Given the description of an element on the screen output the (x, y) to click on. 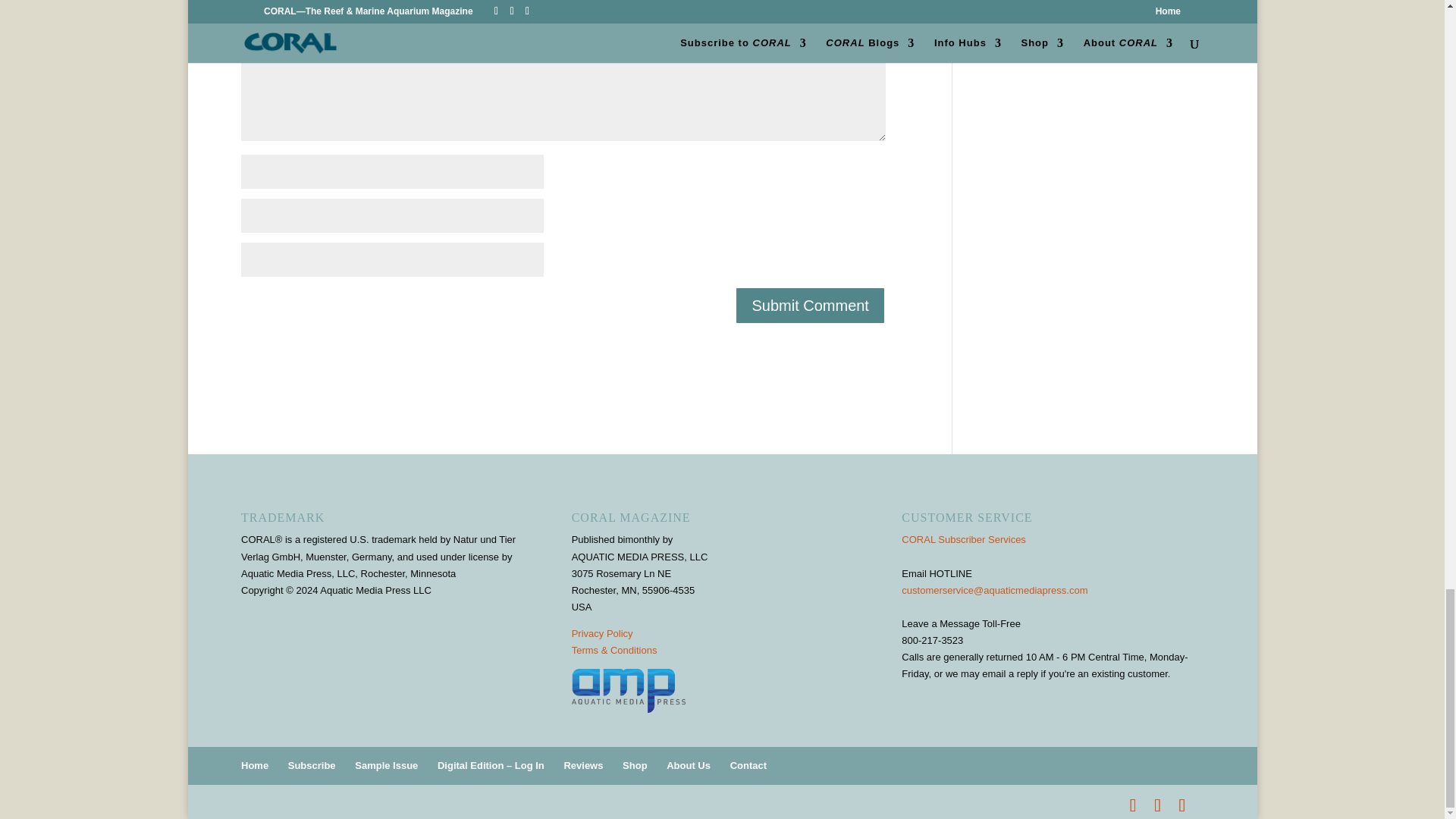
Submit Comment (810, 305)
